Given the description of an element on the screen output the (x, y) to click on. 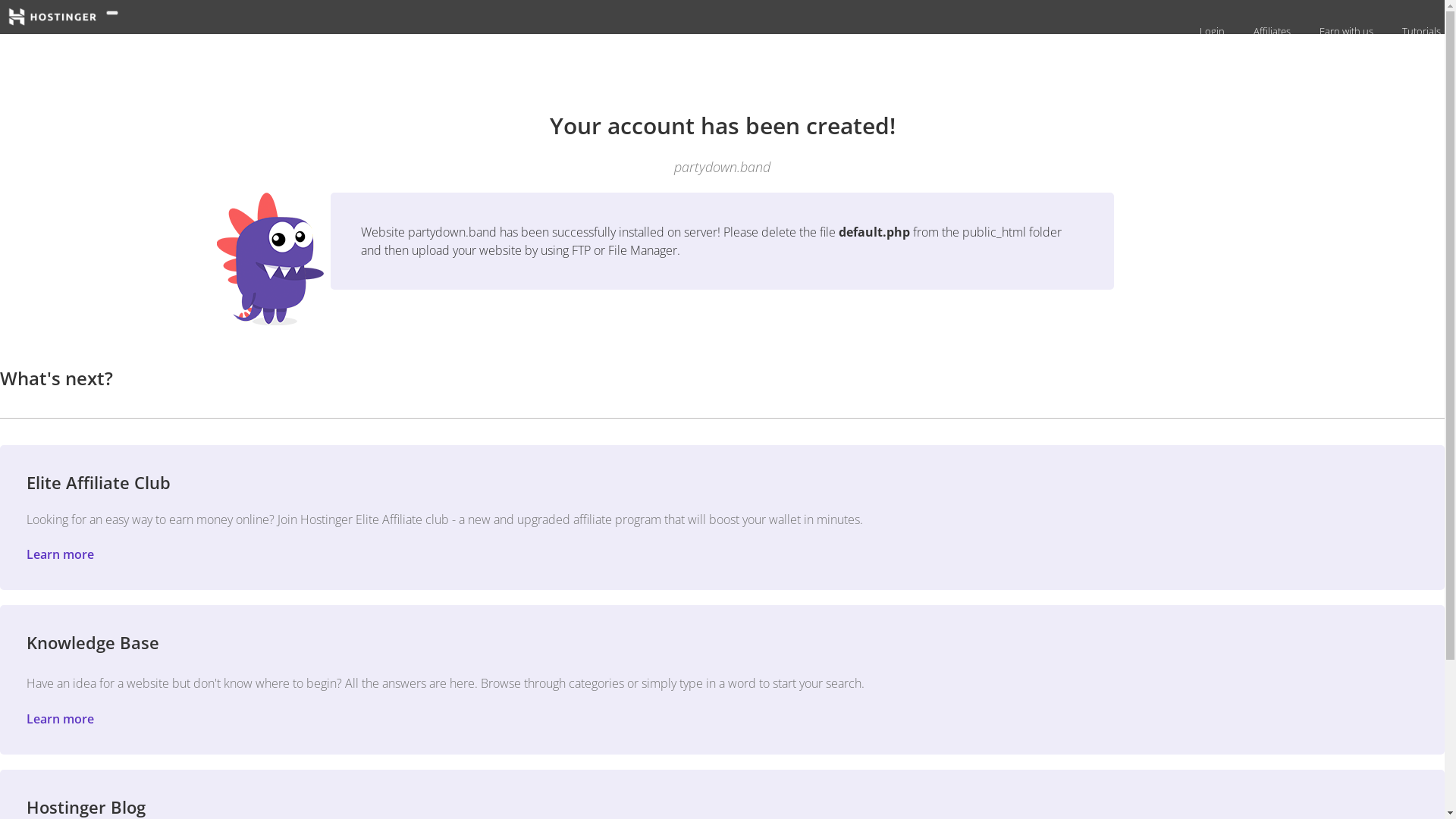
Login Element type: text (1210, 30)
Learn more Element type: text (60, 554)
Affiliates Element type: text (1269, 30)
Learn more Element type: text (60, 718)
Tutorials Element type: text (1419, 30)
Earn with us Element type: text (1344, 30)
